Given the description of an element on the screen output the (x, y) to click on. 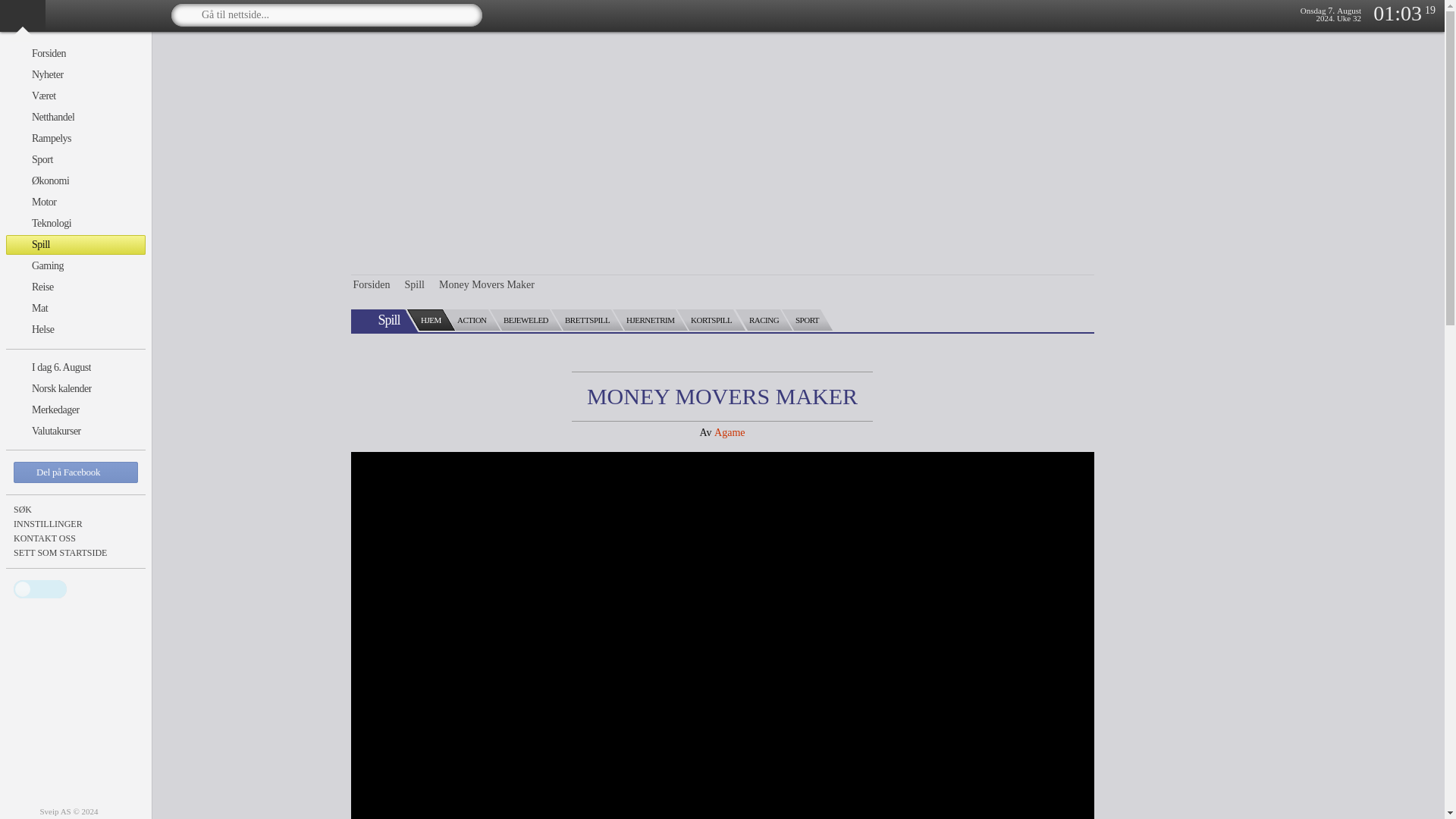
Teknologi (75, 223)
Netthandel (75, 117)
Reise (75, 287)
KONTAKT OSS (75, 538)
Helse (75, 329)
SETT SOM STARTSIDE (75, 552)
INNSTILLINGER (75, 523)
Sport (75, 159)
Merkedager (75, 410)
Forsiden (75, 53)
